Given the description of an element on the screen output the (x, y) to click on. 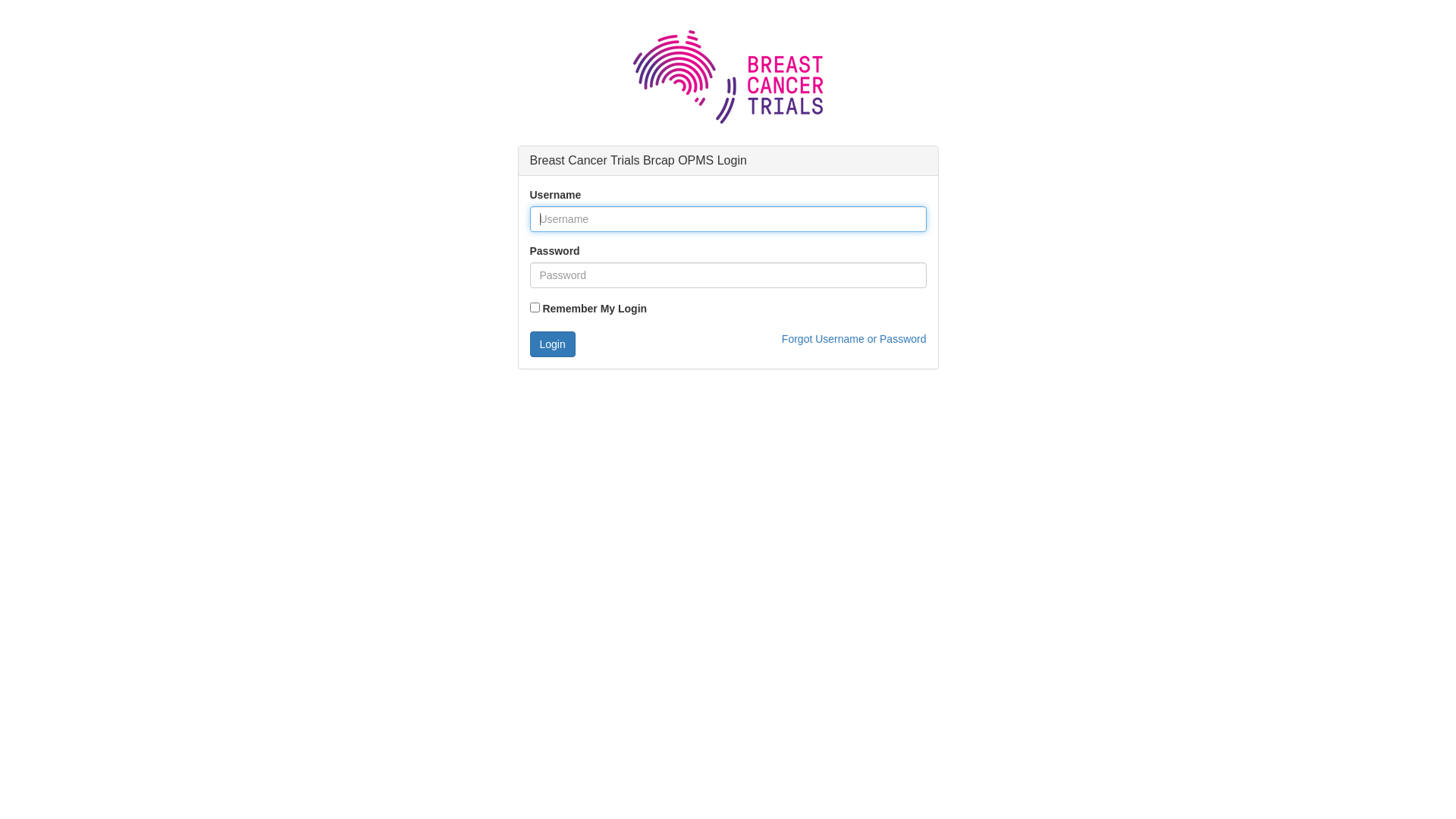
Forgot Username or Password Element type: text (853, 338)
Login Element type: text (551, 344)
